Given the description of an element on the screen output the (x, y) to click on. 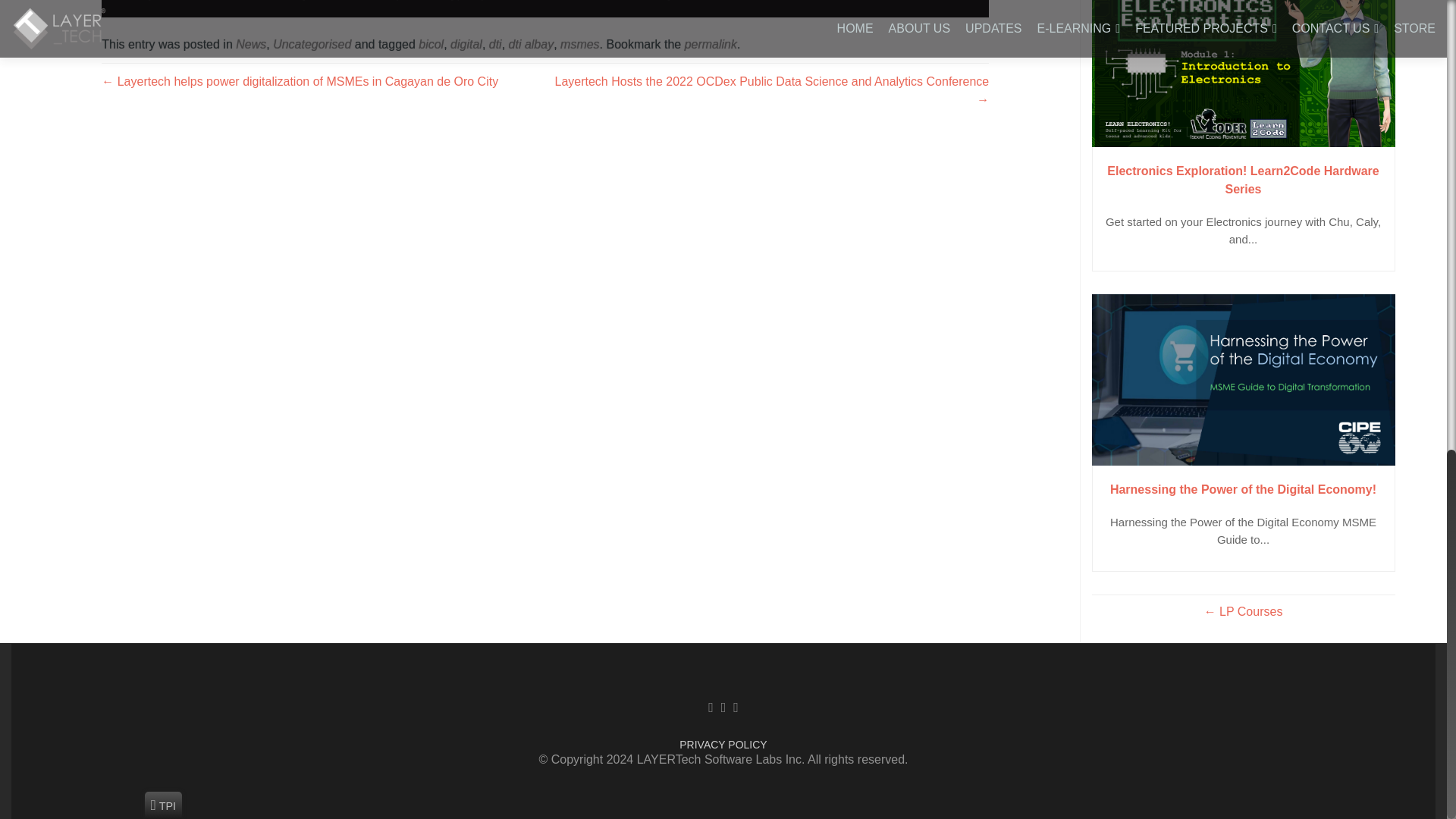
digital (465, 43)
msmes (579, 43)
Electronics Exploration! Learn2Code Hardware Series (1243, 180)
Uncategorised (311, 43)
dti (495, 43)
News (250, 43)
dti albay (531, 43)
bicol (431, 43)
permalink (710, 43)
Electronics Exploration! Learn2Code Hardware Series (1243, 73)
Harnessing the Power of the Digital Economy! (1243, 380)
